Given the description of an element on the screen output the (x, y) to click on. 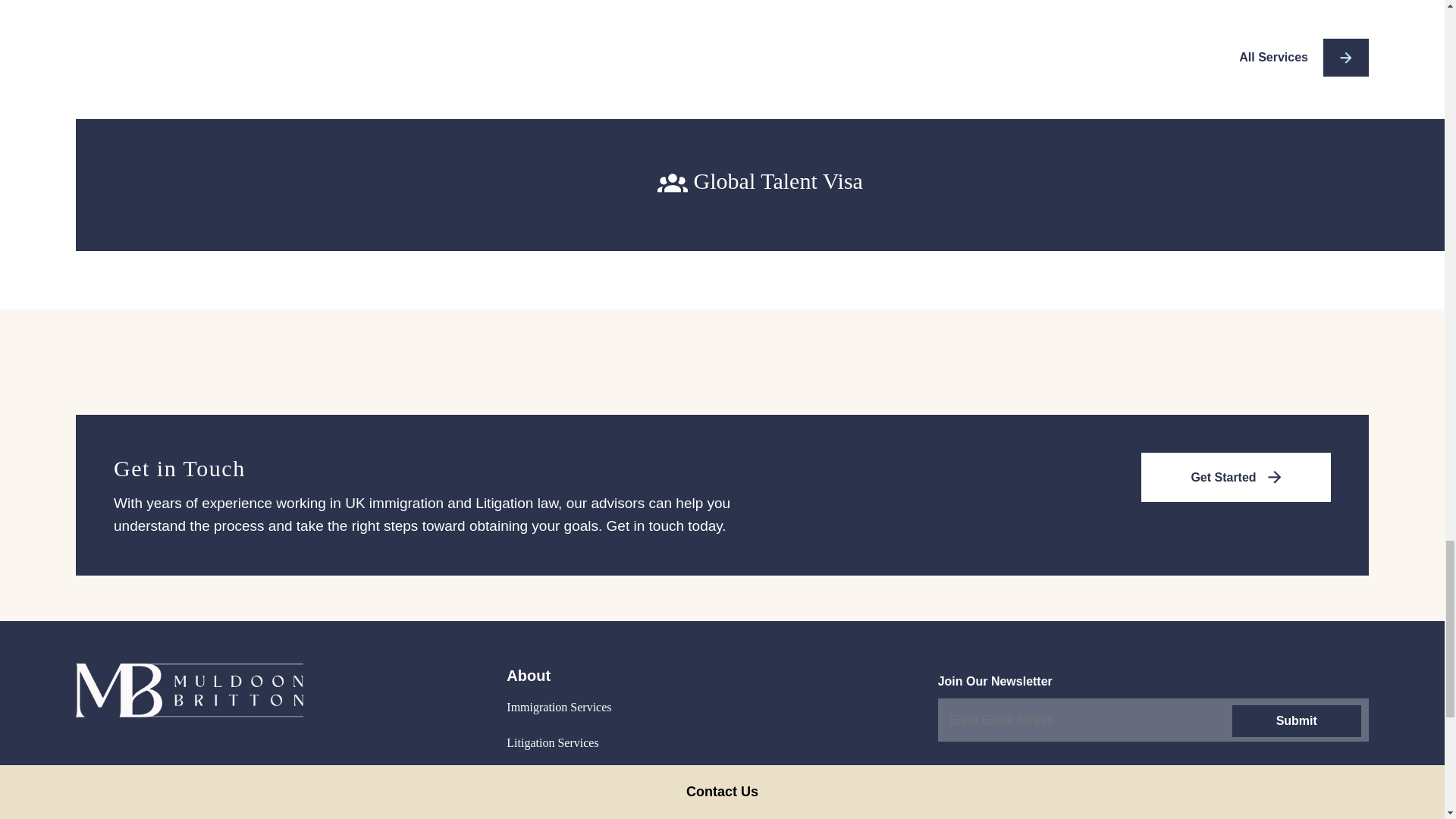
Global Talent Visa (760, 181)
All Services (1303, 57)
Submit (1295, 721)
